Given the description of an element on the screen output the (x, y) to click on. 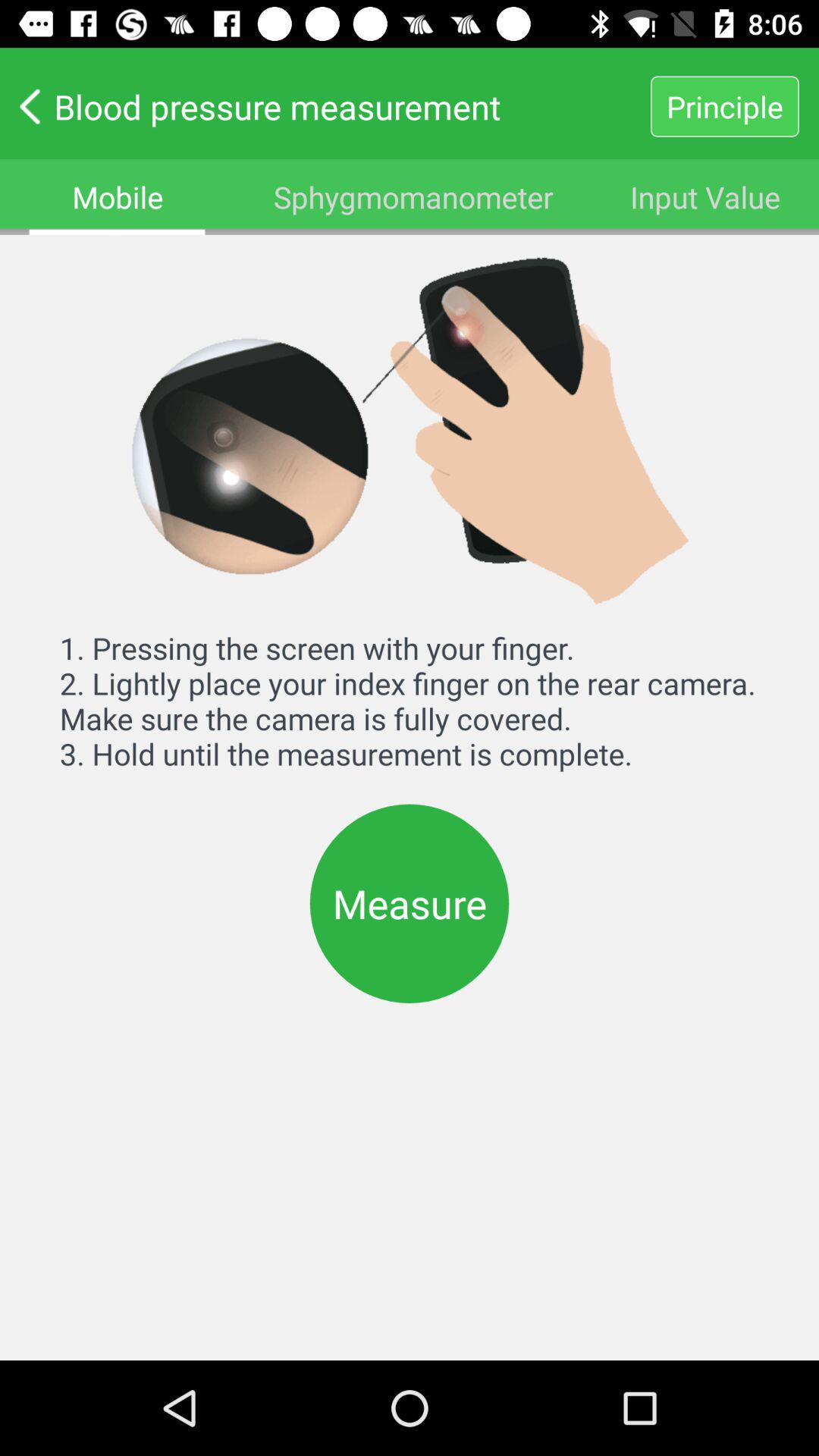
tap icon below the 1 pressing the item (409, 903)
